Given the description of an element on the screen output the (x, y) to click on. 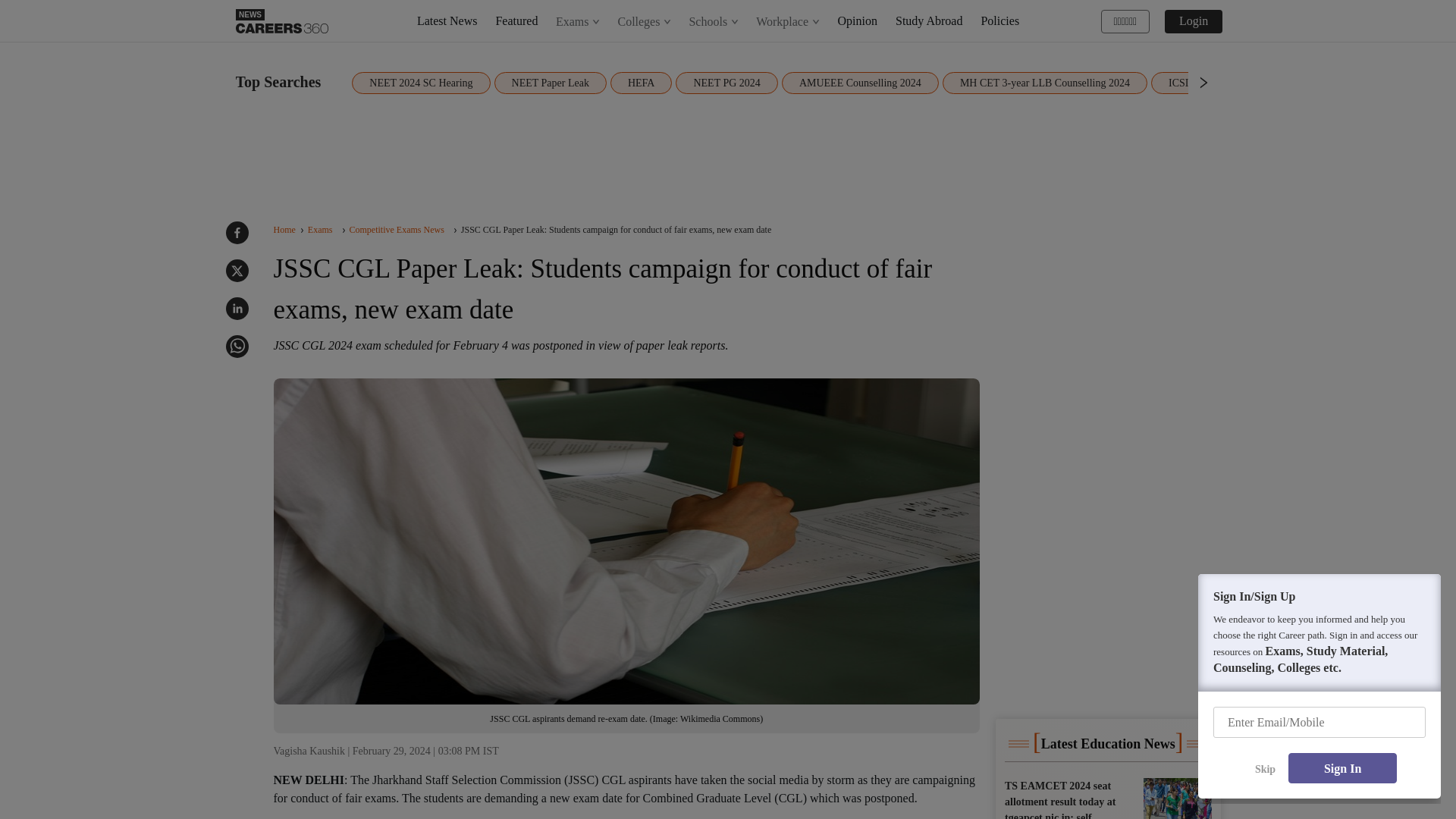
Study Abroad (928, 20)
Workplace (787, 21)
NEET 2024 SC Hearing (420, 83)
Featured (516, 20)
Policies (999, 20)
Workplace (788, 20)
NEET Paper Leak (551, 83)
HEFA (641, 83)
Exams (577, 20)
Opinion (857, 20)
Schools (713, 20)
Colleges (643, 20)
3rd party ad content (1115, 316)
Schools (713, 21)
Login (1193, 20)
